Given the description of an element on the screen output the (x, y) to click on. 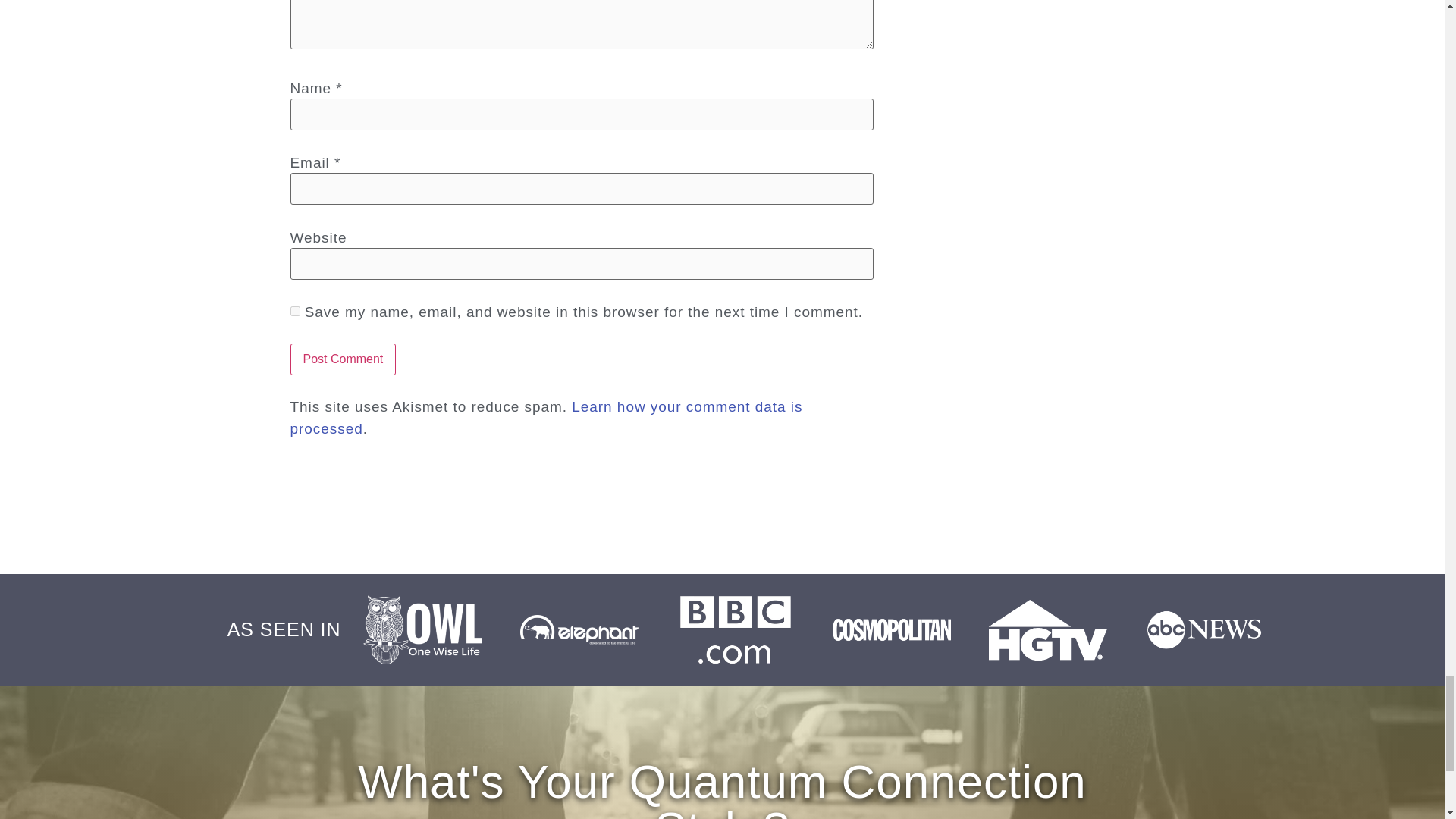
yes (294, 311)
Post Comment (342, 359)
